Given the description of an element on the screen output the (x, y) to click on. 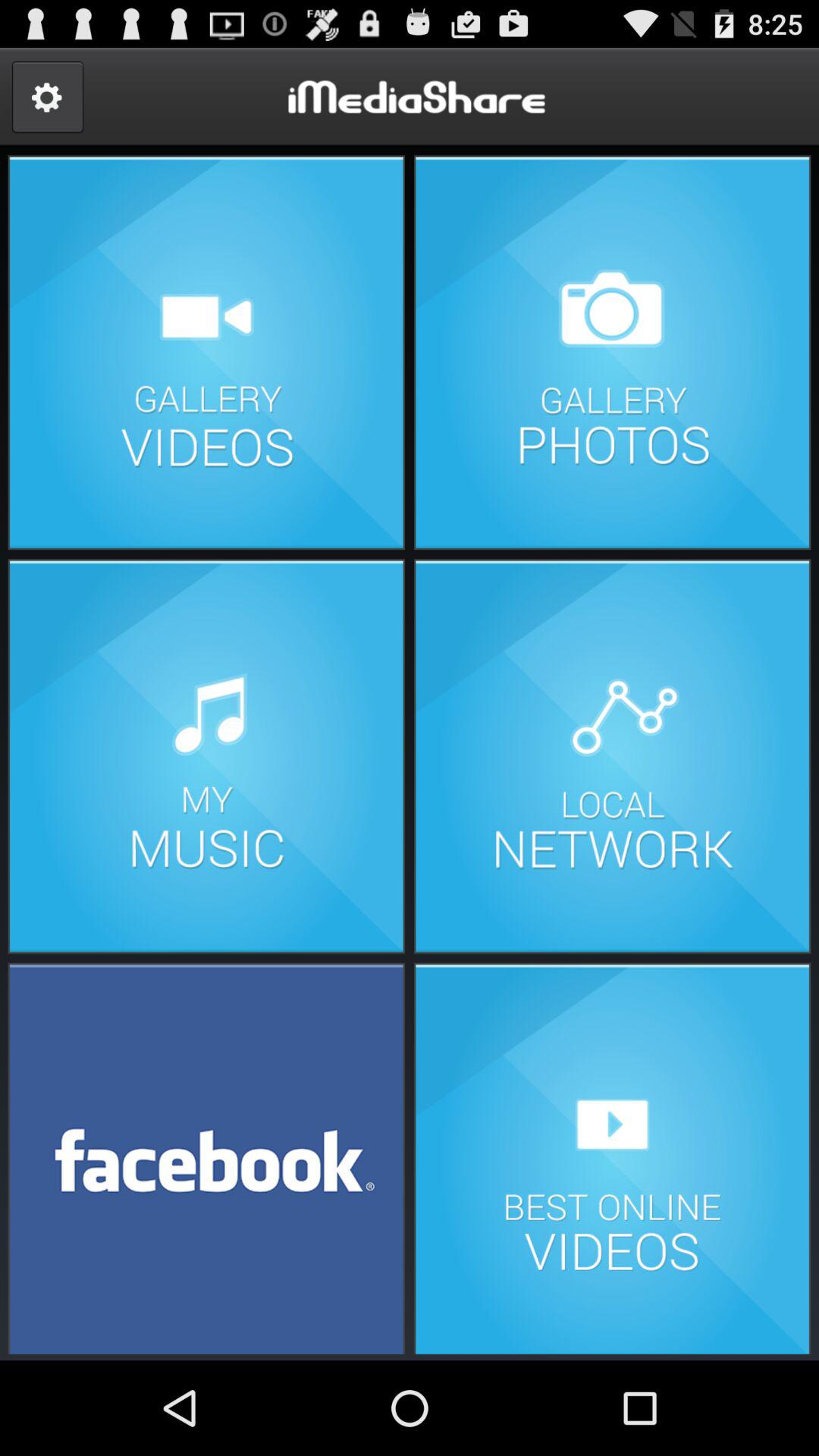
watch videos (612, 1157)
